Given the description of an element on the screen output the (x, y) to click on. 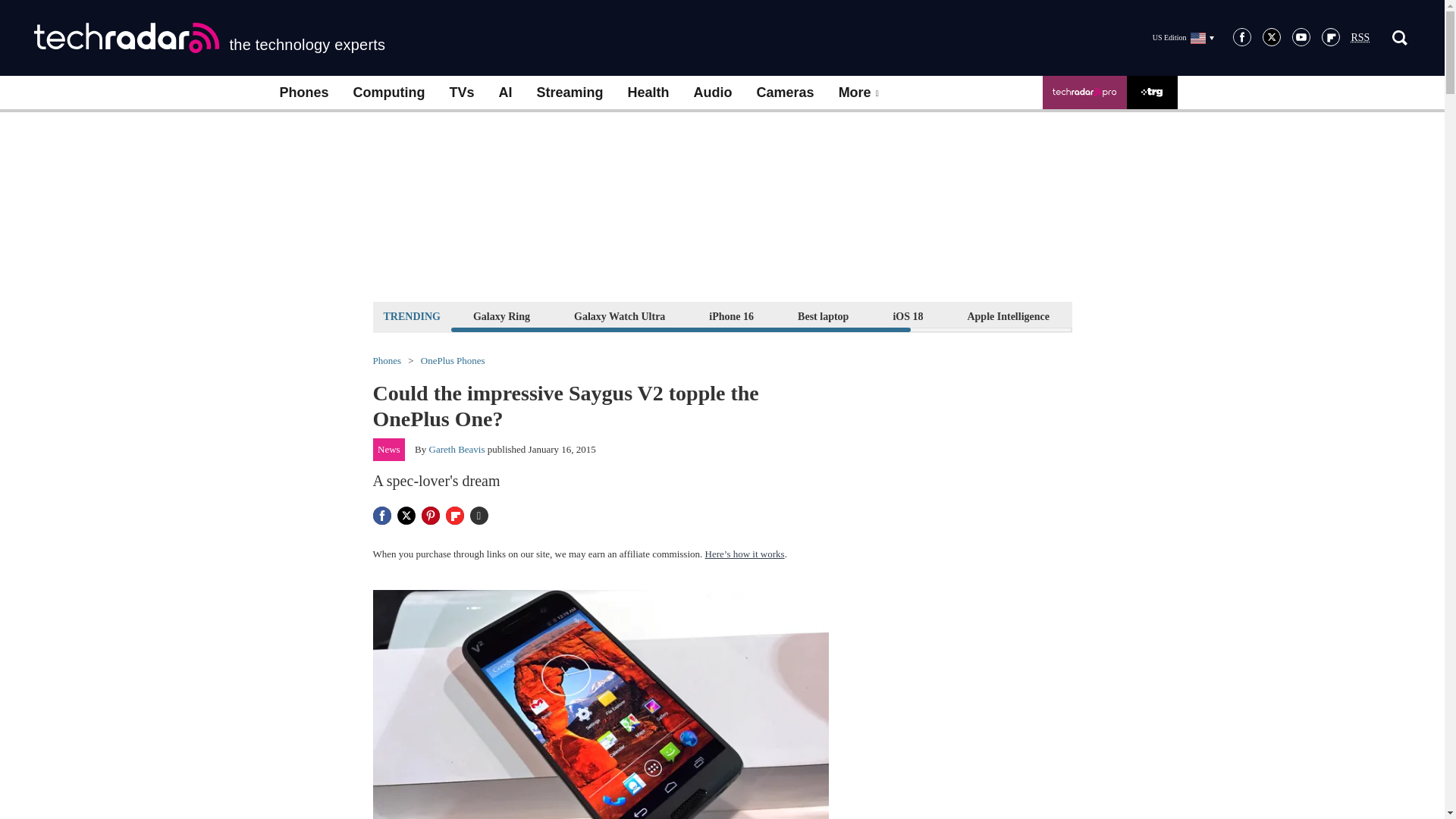
Health (648, 92)
Audio (712, 92)
Really Simple Syndication (1360, 37)
Phones (303, 92)
TVs (461, 92)
the technology experts (209, 38)
Cameras (785, 92)
US Edition (1182, 37)
Computing (389, 92)
AI (505, 92)
Streaming (569, 92)
